Given the description of an element on the screen output the (x, y) to click on. 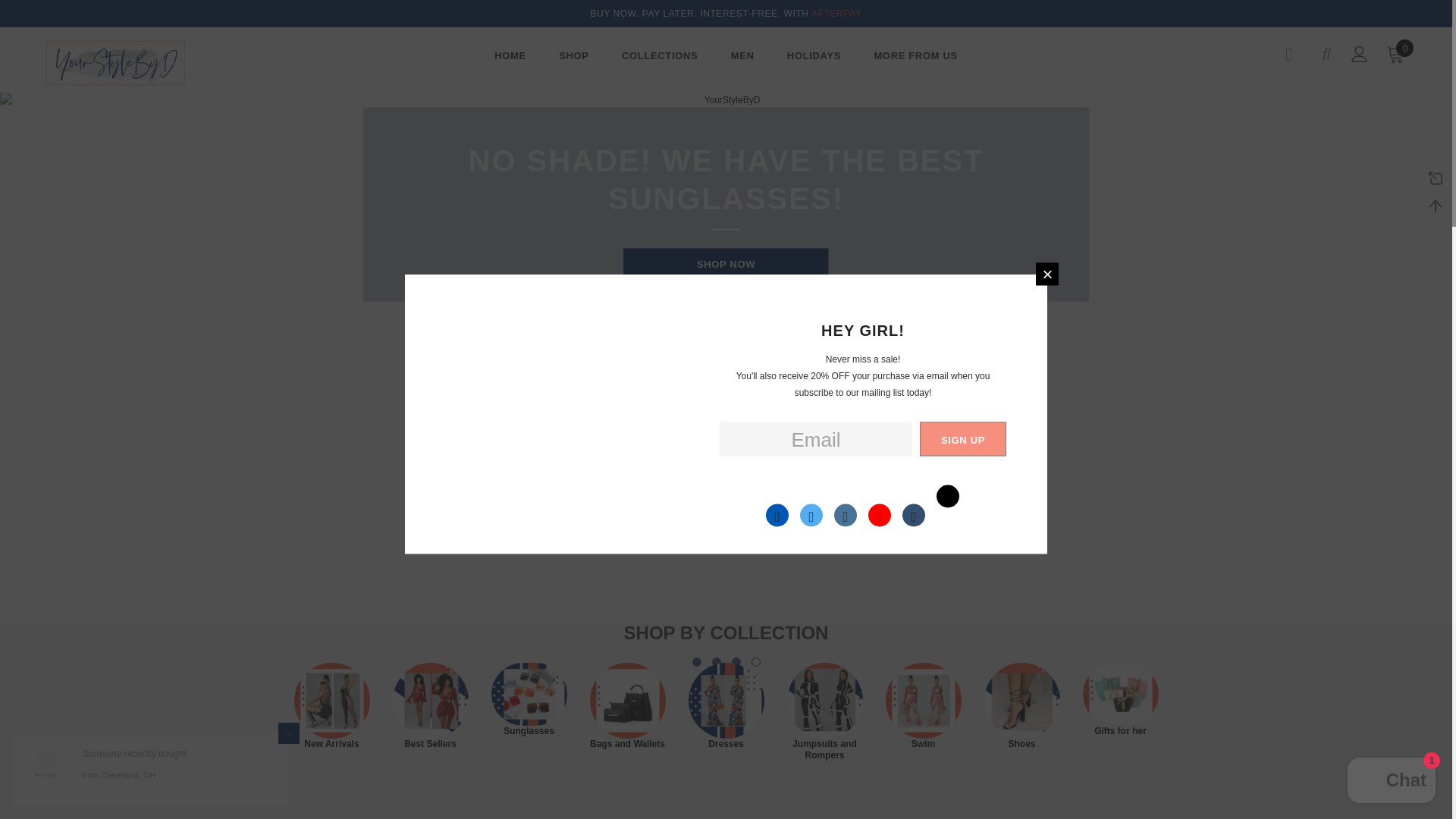
Sign Up (963, 438)
Logo (135, 63)
COLLECTIONS (659, 58)
